Given the description of an element on the screen output the (x, y) to click on. 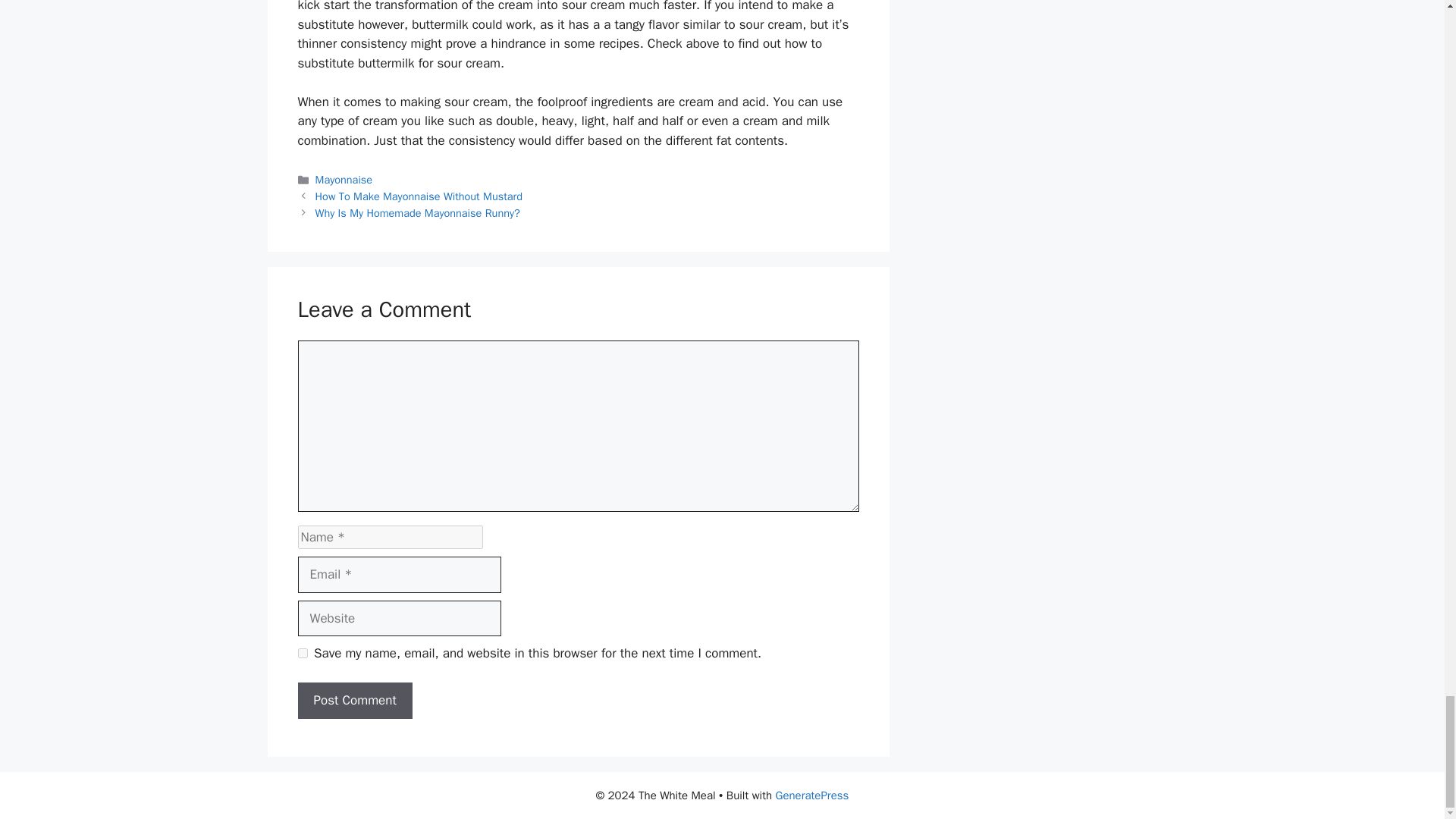
Mayonnaise (343, 179)
yes (302, 653)
Post Comment (354, 700)
